Given the description of an element on the screen output the (x, y) to click on. 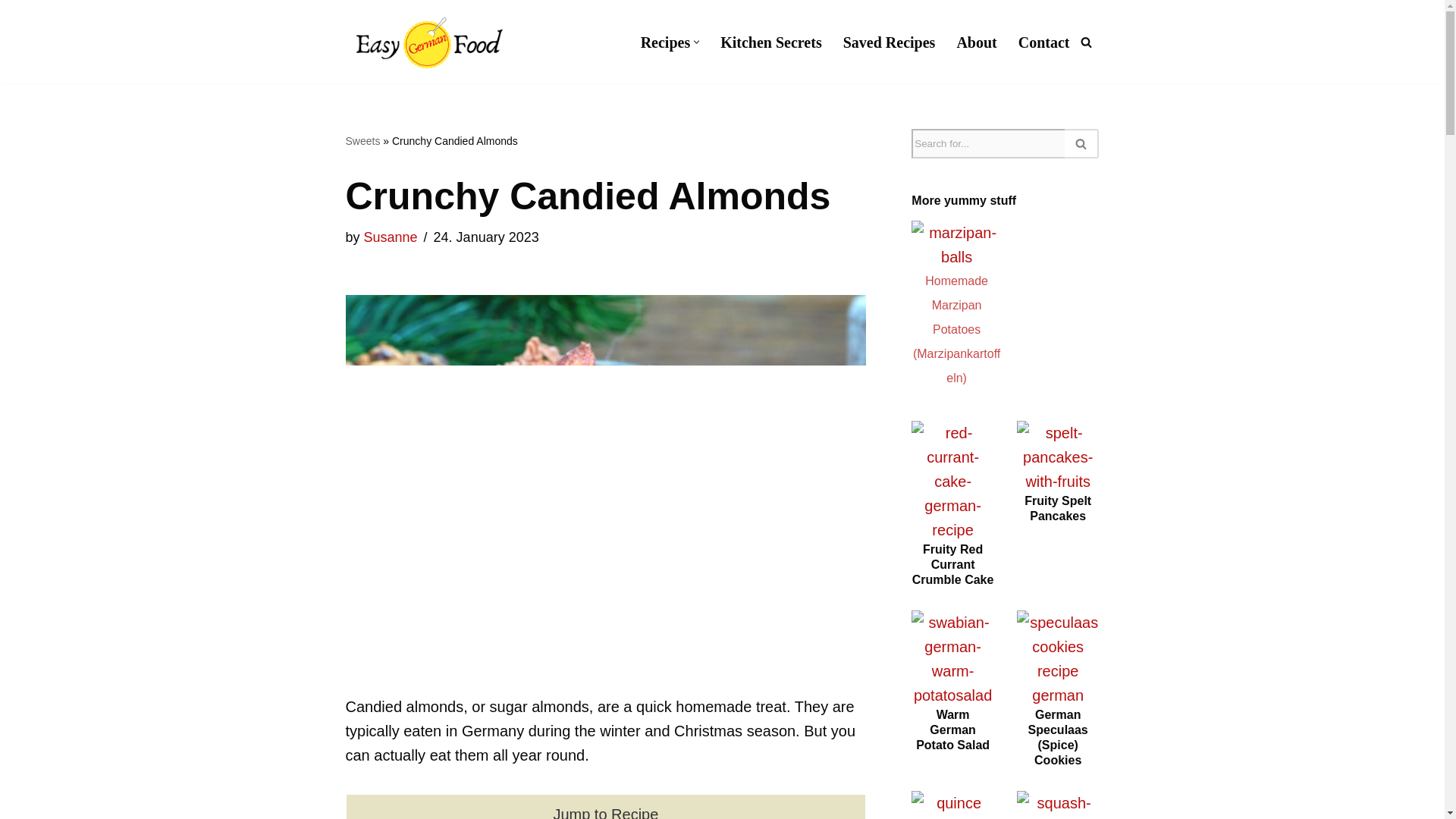
About (975, 41)
Skip to content (11, 31)
Saved Recipes (889, 41)
Kitchen Secrets (771, 41)
Posts by Susanne (390, 237)
Recipes (665, 41)
Contact (1043, 41)
